Given the description of an element on the screen output the (x, y) to click on. 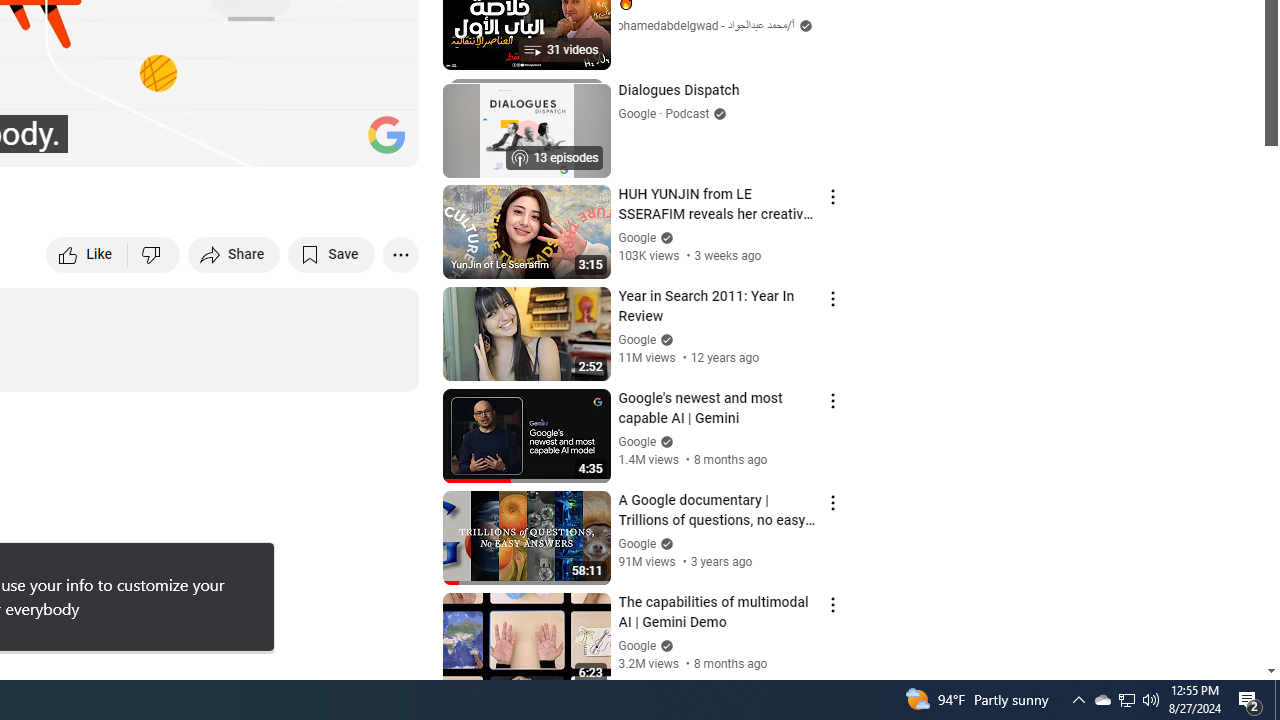
Full screen (f) (382, 142)
More actions (399, 254)
Save to playlist (331, 254)
Subtitles/closed captions unavailable (190, 142)
Verified (664, 645)
Miniplayer (i) (286, 142)
Like (87, 254)
Theater mode (t) (333, 142)
Dislike this video (154, 254)
Channel watermark (386, 134)
